Given the description of an element on the screen output the (x, y) to click on. 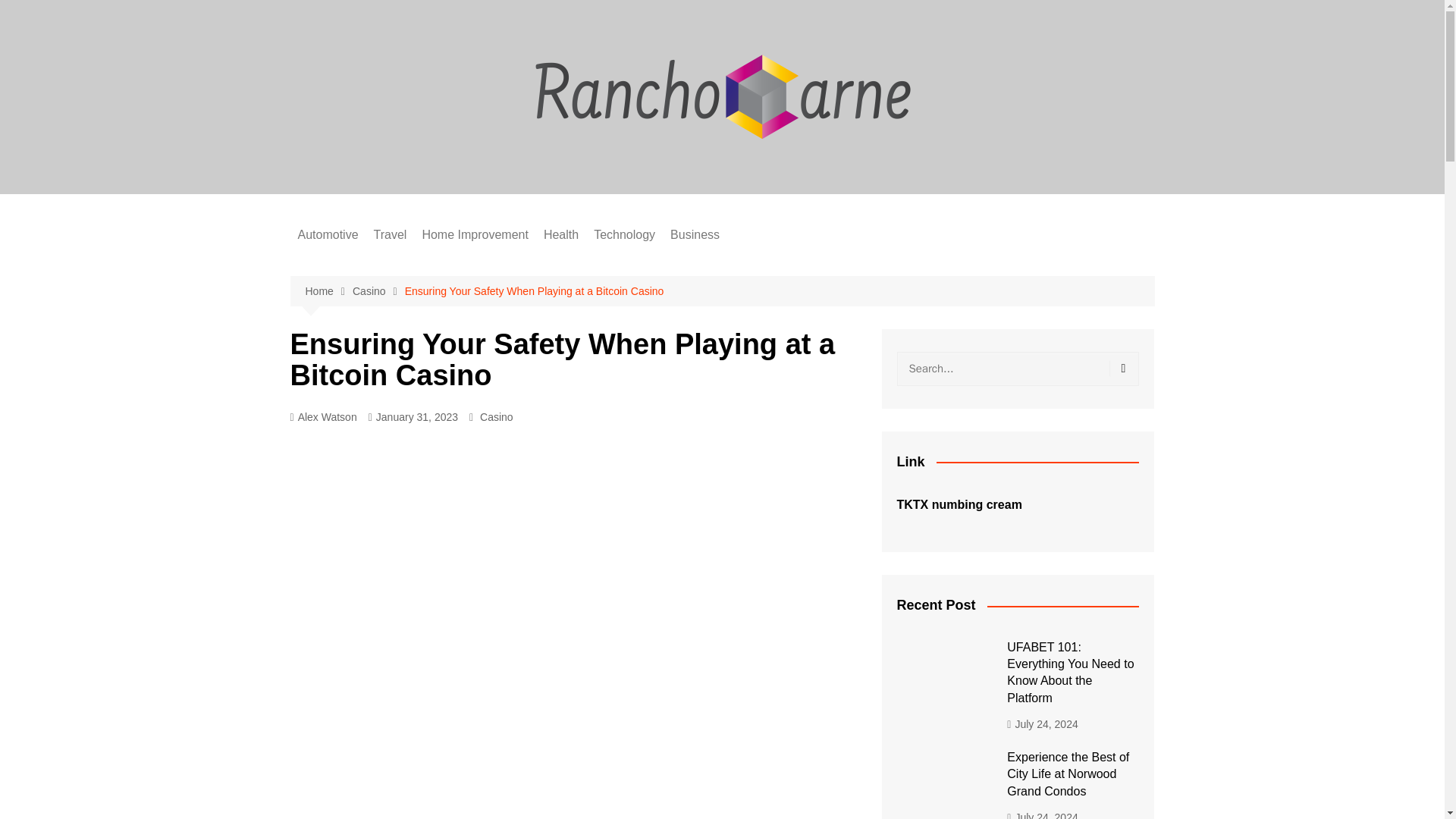
Ensuring Your Safety When Playing at a Bitcoin Casino (533, 290)
Casino (378, 291)
Business (694, 235)
Home Improvement (474, 235)
Travel (390, 235)
Home (328, 291)
Automotive (327, 235)
Alex Watson (322, 416)
January 31, 2023 (413, 416)
Health (560, 235)
Casino (496, 416)
Technology (624, 235)
